Given the description of an element on the screen output the (x, y) to click on. 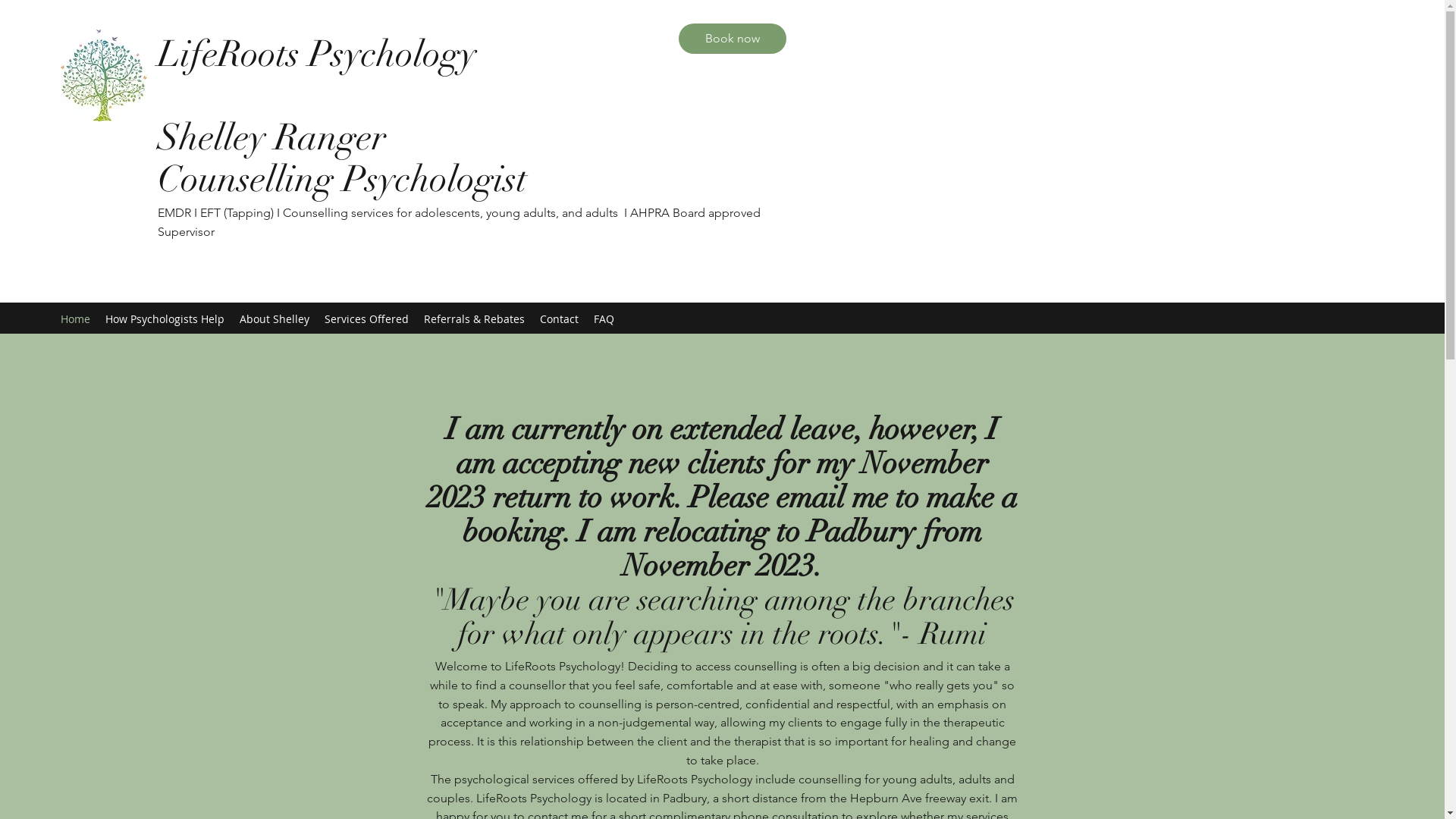
Home Element type: text (75, 318)
Services Offered Element type: text (366, 318)
Book now Element type: text (732, 38)
How Psychologists Help Element type: text (164, 318)
About Shelley Element type: text (274, 318)
Contact Element type: text (559, 318)
Referrals & Rebates Element type: text (474, 318)
FAQ Element type: text (603, 318)
